Given the description of an element on the screen output the (x, y) to click on. 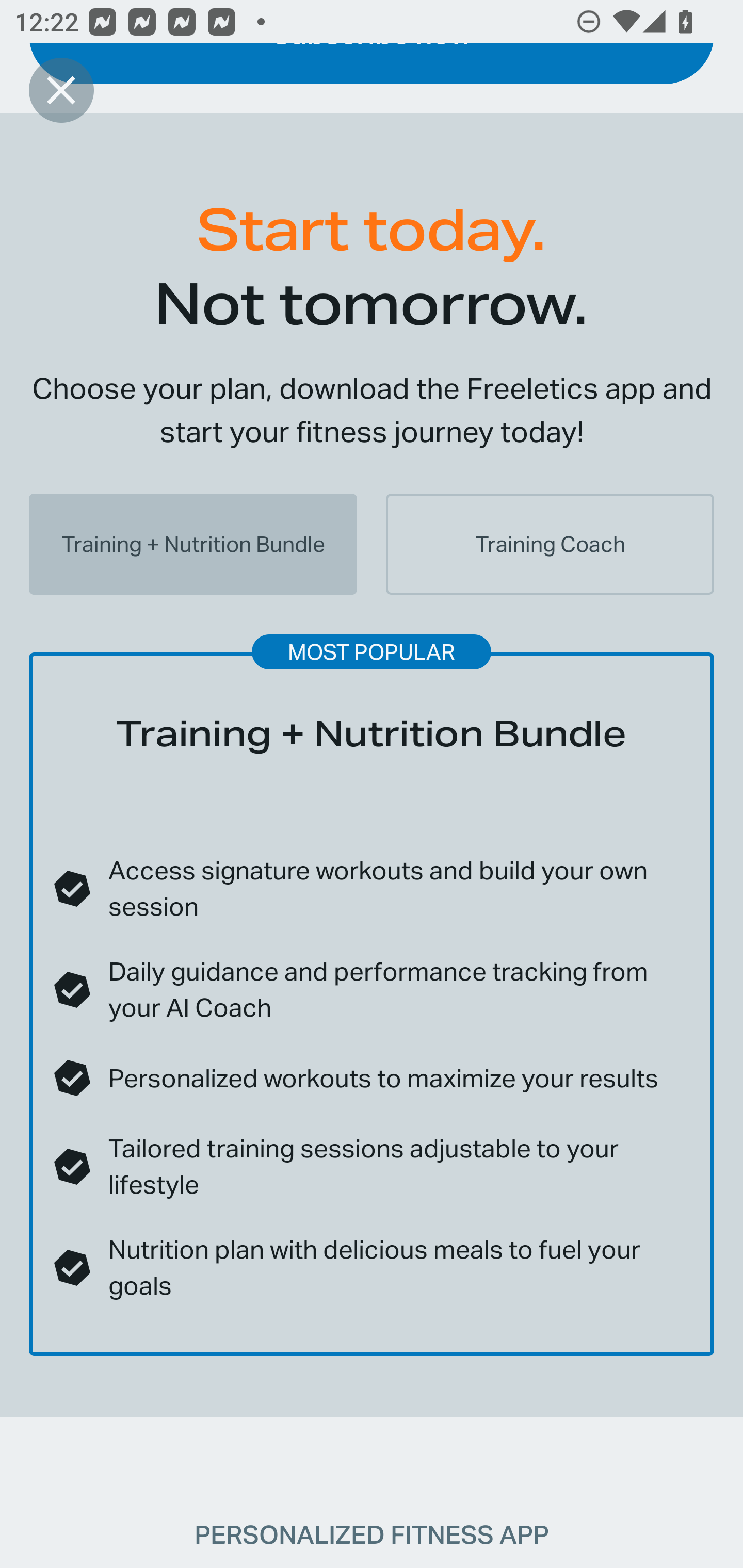
Close (60, 90)
Training + Nutrition Bundle (192, 543)
Training Coach (549, 543)
